Given the description of an element on the screen output the (x, y) to click on. 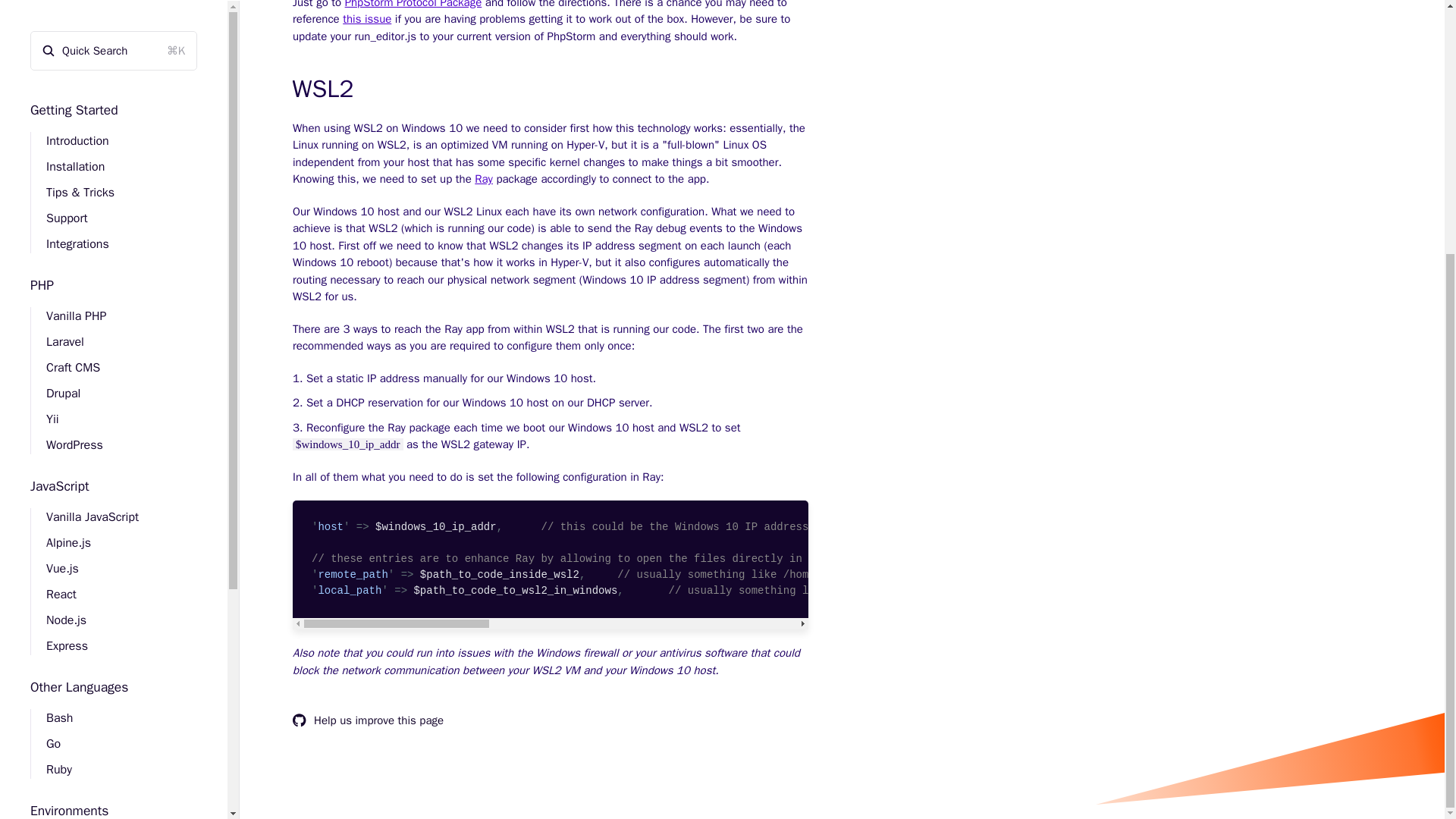
WordPress (66, 174)
Laravel (57, 71)
Vanilla JavaScript (84, 247)
Yii (44, 149)
Drupal (55, 123)
PHP (41, 14)
Alpine.js (60, 273)
Craft CMS (65, 97)
Vanilla PHP (68, 46)
JavaScript (59, 216)
